Given the description of an element on the screen output the (x, y) to click on. 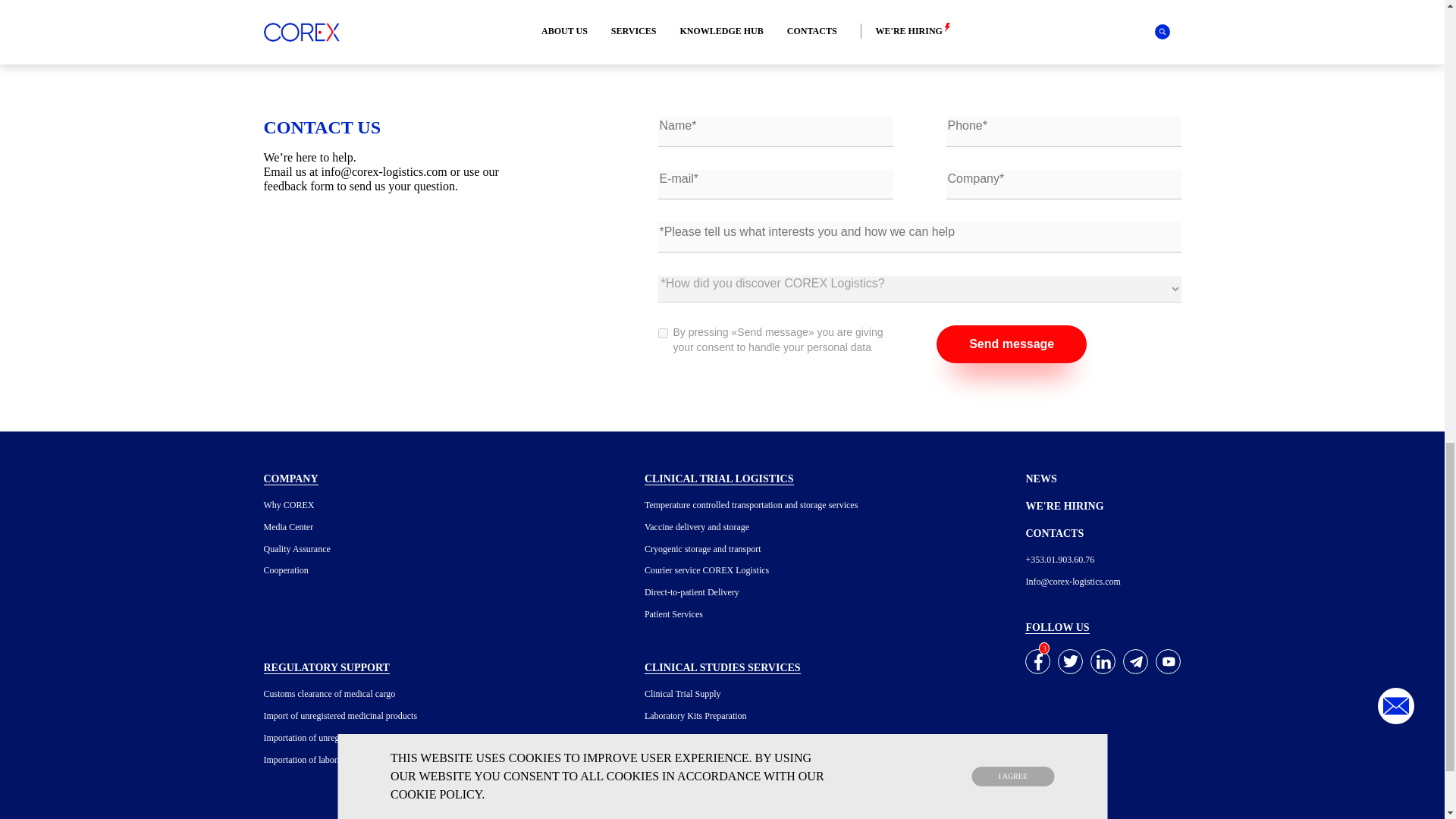
Yes (663, 333)
